Given the description of an element on the screen output the (x, y) to click on. 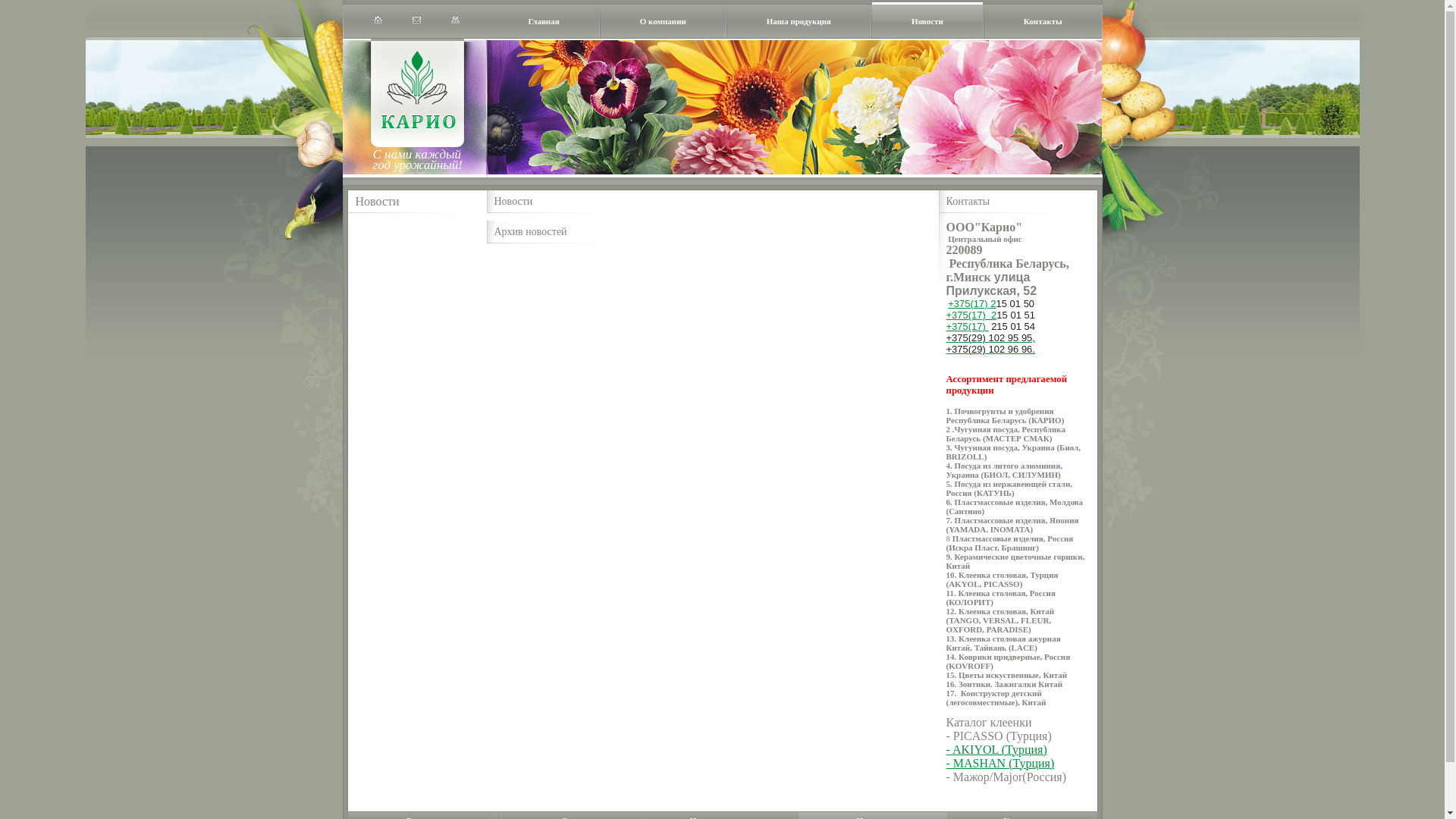
+375(29) 102 95 95, Element type: text (990, 337)
+375(17) 2 Element type: text (971, 303)
+375(17)  2 Element type: text (971, 314)
+375(17)  Element type: text (967, 326)
+375(29) 102 96 96. Element type: text (990, 349)
